Given the description of an element on the screen output the (x, y) to click on. 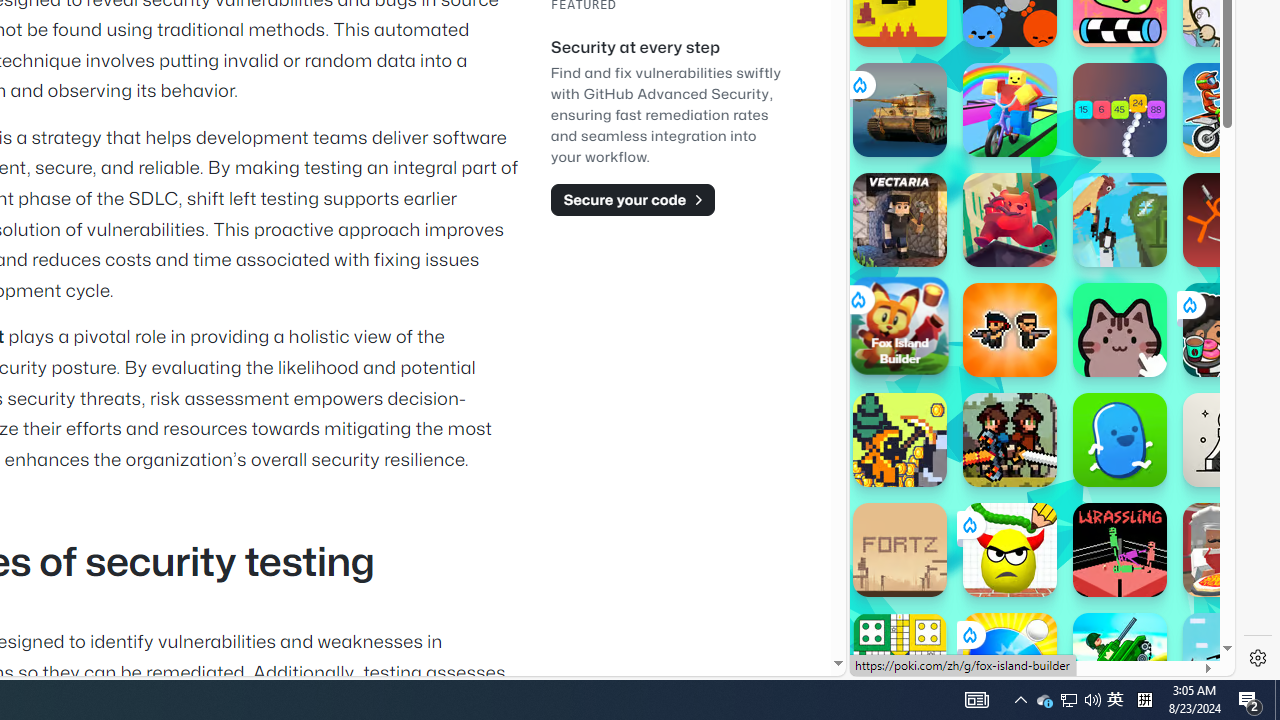
poki.com (1092, 338)
Draw To Smash: Logic Puzzle Draw To Smash: Logic Puzzle (1009, 549)
Hills of Steel (925, 290)
Wrassling (1119, 549)
Vortelli's Pizza Vortelli's Pizza (1229, 549)
Class: rCs5cyEiqiTpYvt_VBCR (968, 634)
Rooftop Snipers Rooftop Snipers (1229, 659)
Catpad (1119, 329)
Tiger Tank (899, 109)
Goober World Goober World (1119, 439)
Hills of Steel Hills of Steel poki.com (943, 245)
Hills of Steel (1119, 659)
Hills of Steel Hills of Steel (1119, 659)
